Given the description of an element on the screen output the (x, y) to click on. 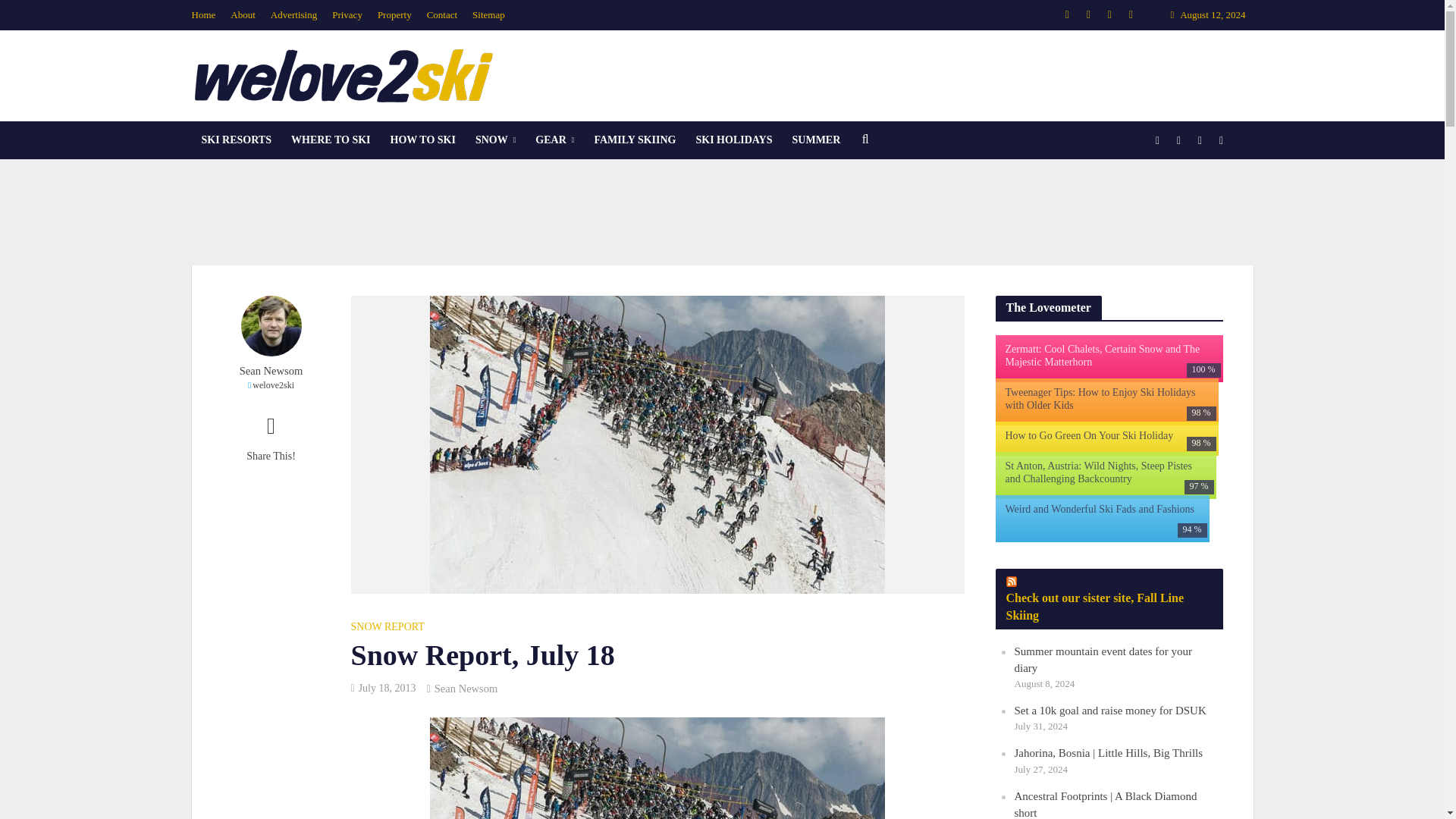
FAMILY SKIING (634, 139)
Ski Holiday Advice is What Welove2ski is All About (733, 139)
SKI HOLIDAYS (733, 139)
SUMMER (816, 139)
Welove2ski Home (206, 15)
Welove2ski: The Premier Digital Platform for Ski Advertising (293, 15)
Where to Ski: Great Advice on Where to Go (330, 139)
How to Ski Tutorials for Snow-Loving Folks (422, 139)
SKI RESORTS (235, 139)
SNOW (495, 139)
